Given the description of an element on the screen output the (x, y) to click on. 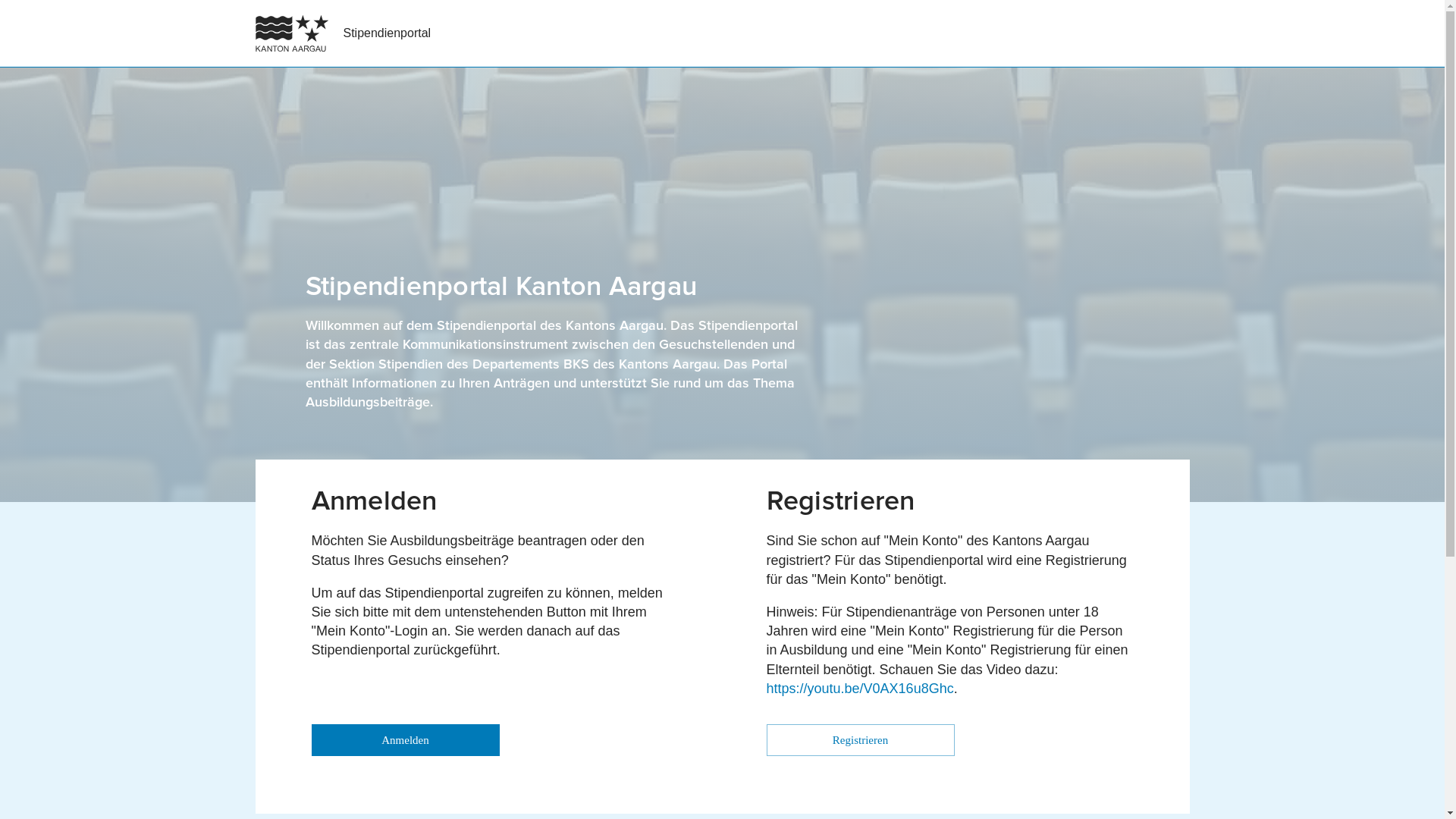
Registrieren Element type: text (859, 740)
Stipendienportal Element type: text (383, 33)
https://youtu.be/V0AX16u8Ghc Element type: text (859, 688)
Stipendienportal Element type: text (386, 33)
Anmelden Element type: text (404, 740)
Kanton Aargau Logo Element type: text (290, 65)
